Given the description of an element on the screen output the (x, y) to click on. 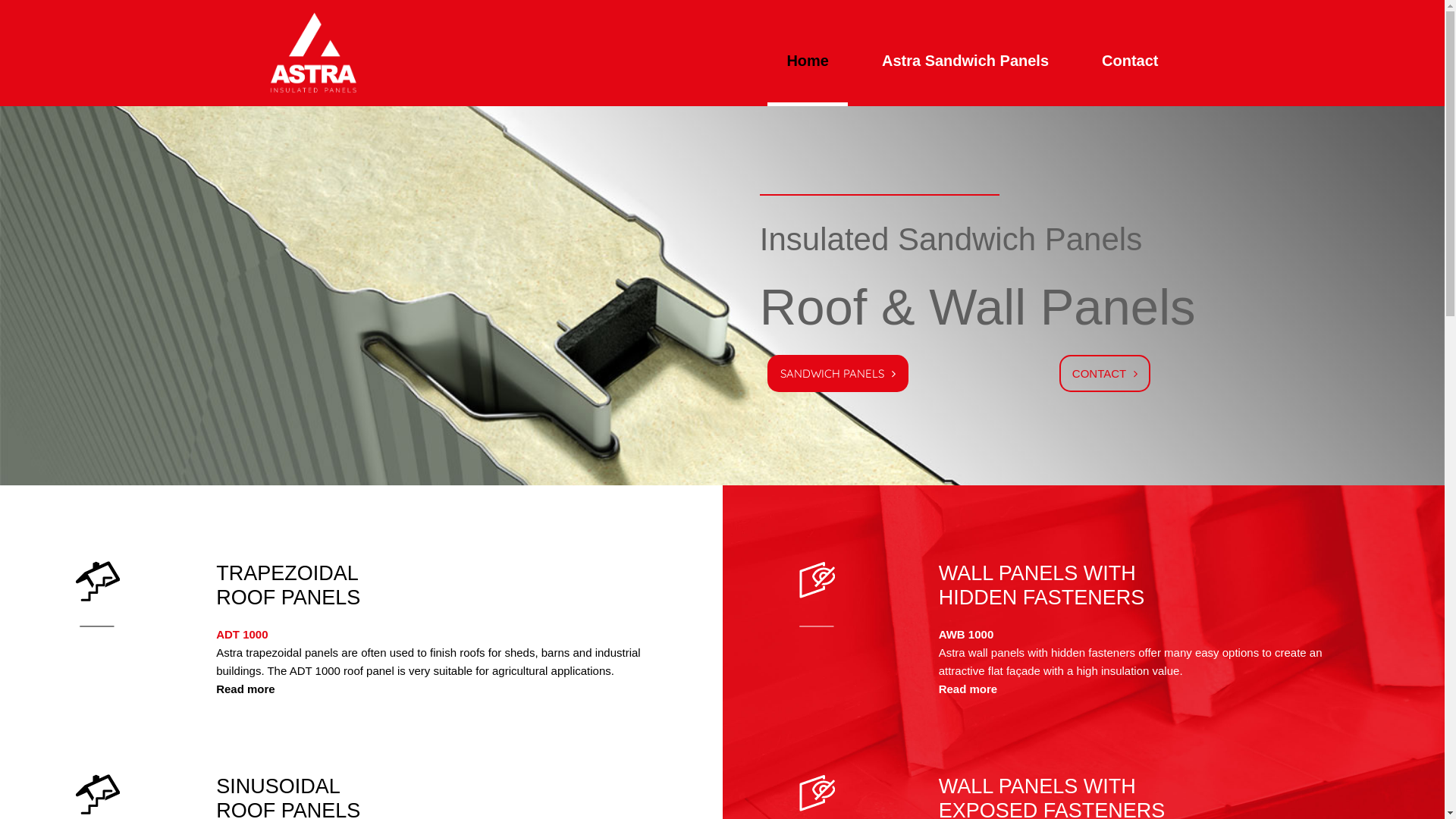
Astra Sandwich Panels Element type: text (964, 60)
Home Element type: text (807, 60)
CONTACT Element type: text (1104, 373)
SANDWICH PANELS Element type: text (837, 373)
Read more Element type: text (245, 688)
Contact Element type: text (1129, 60)
Read more Element type: text (967, 688)
